Given the description of an element on the screen output the (x, y) to click on. 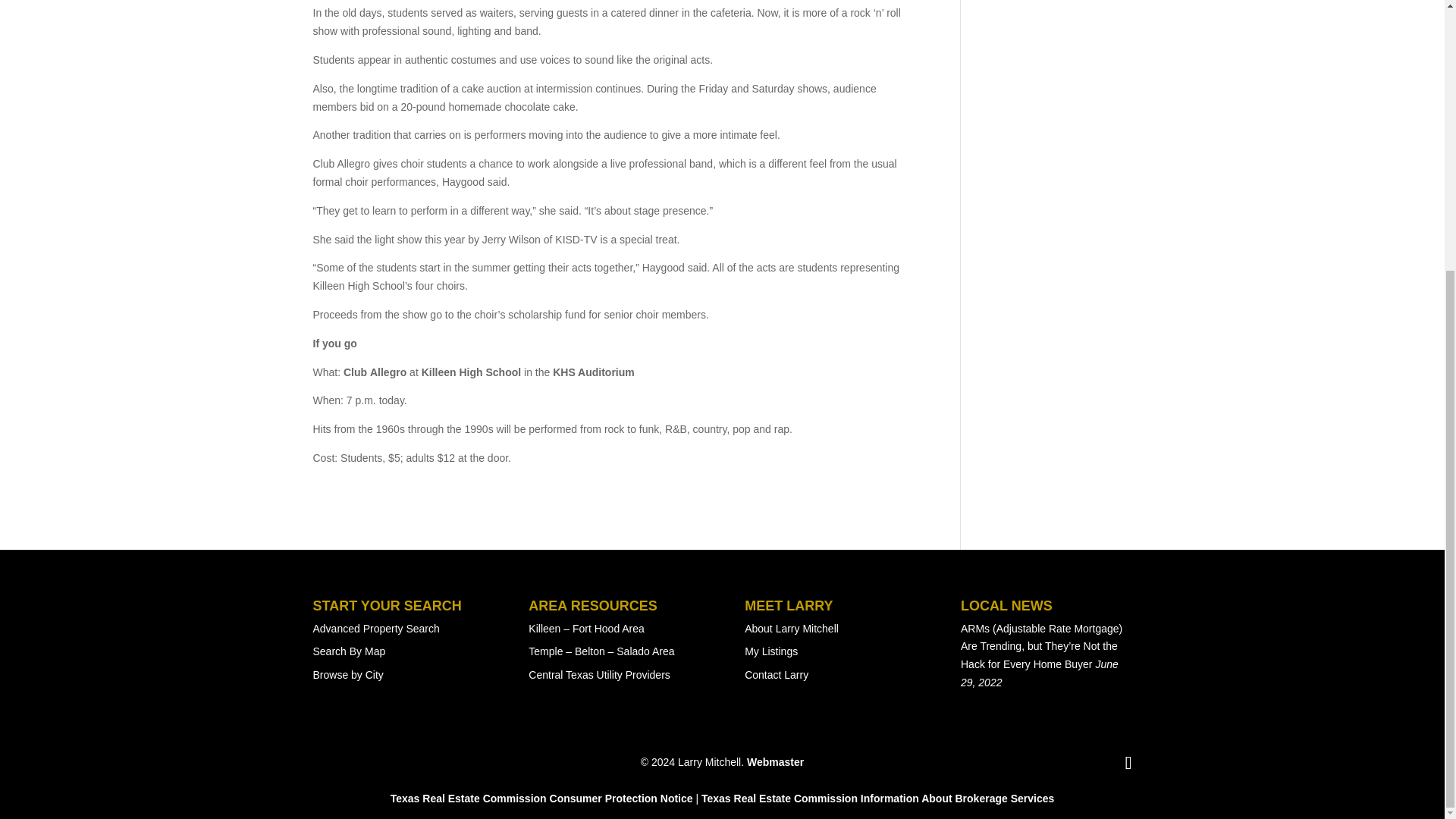
Central Texas Utility Providers (598, 674)
Advanced Property Search (376, 627)
Search By Map (349, 651)
Contact Larry (776, 674)
Browse by City (347, 674)
My Listings (770, 651)
Texas Real Estate Commission Consumer Protection Notice (541, 798)
Webmaster (774, 761)
About Larry Mitchell (791, 627)
